Given the description of an element on the screen output the (x, y) to click on. 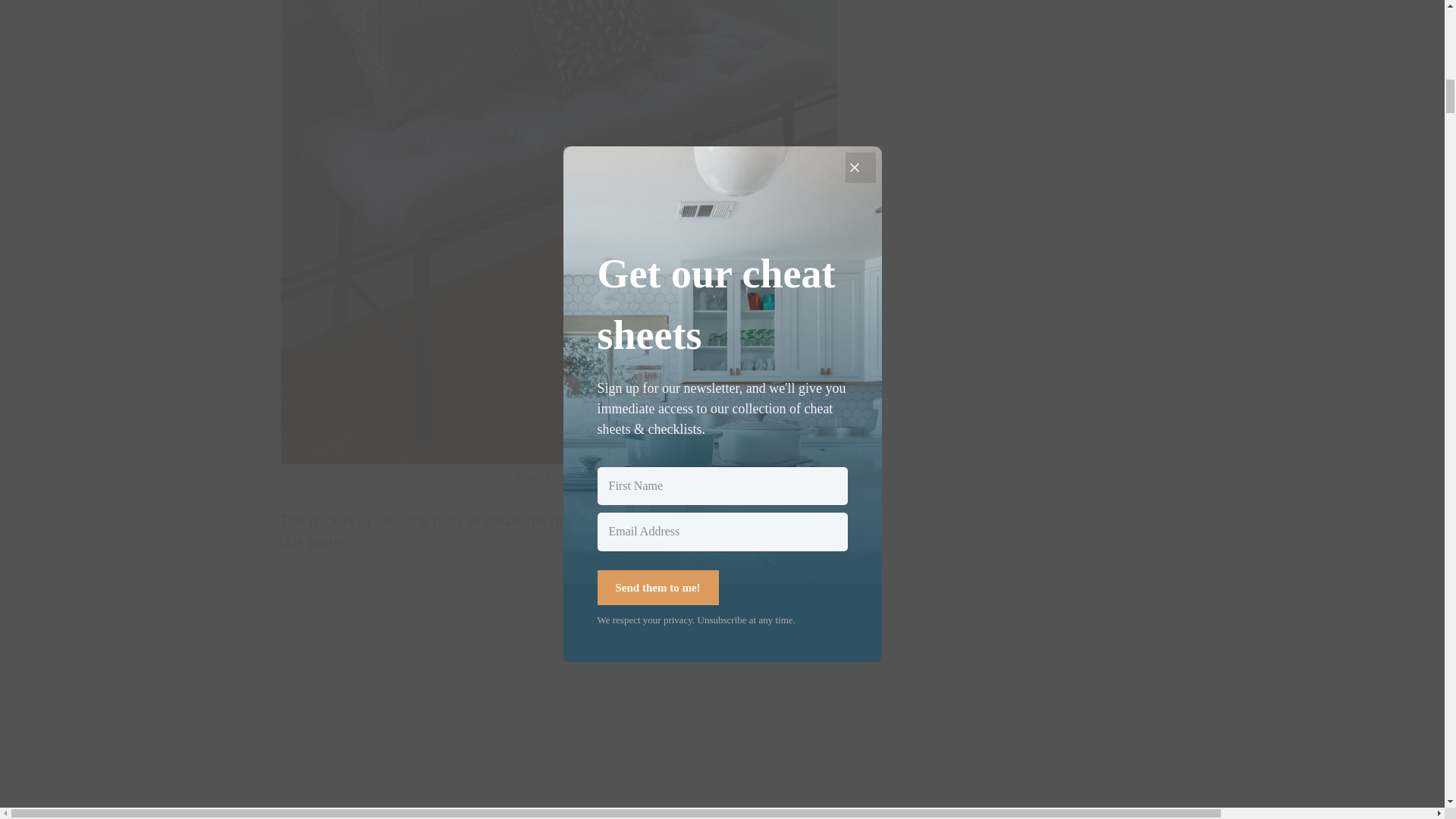
Faith Towers (573, 477)
IKEA Sinnerlig Bench (366, 800)
